Given the description of an element on the screen output the (x, y) to click on. 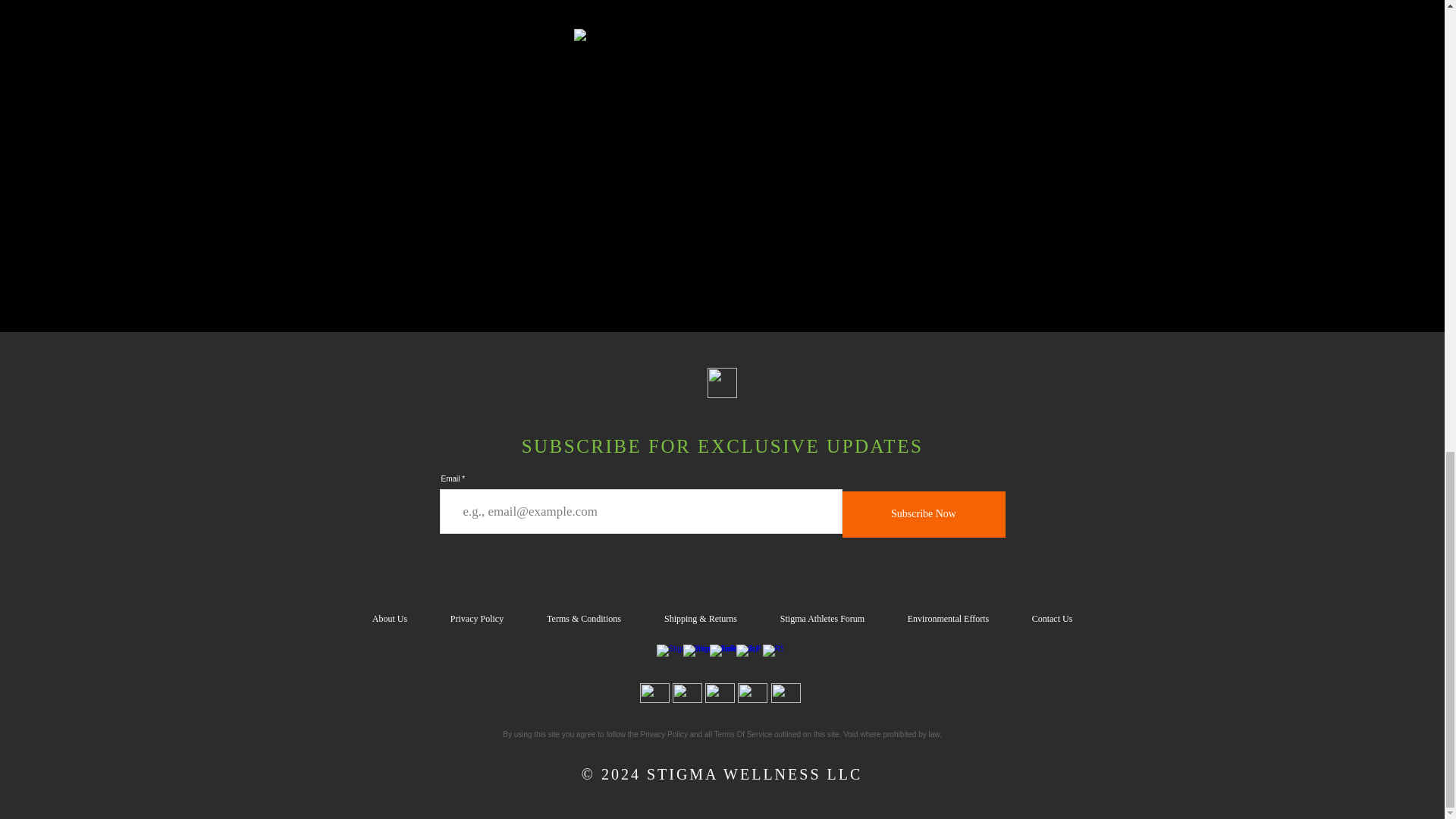
Environmental Efforts (947, 618)
mastercard.png (686, 692)
Privacy Policy (477, 618)
Subscribe Now (922, 514)
Contact Us (1051, 618)
About Us (389, 618)
Leaf.png (721, 382)
square.png (784, 692)
amex.png (751, 692)
Stigma Athletes Forum (821, 618)
